Given the description of an element on the screen output the (x, y) to click on. 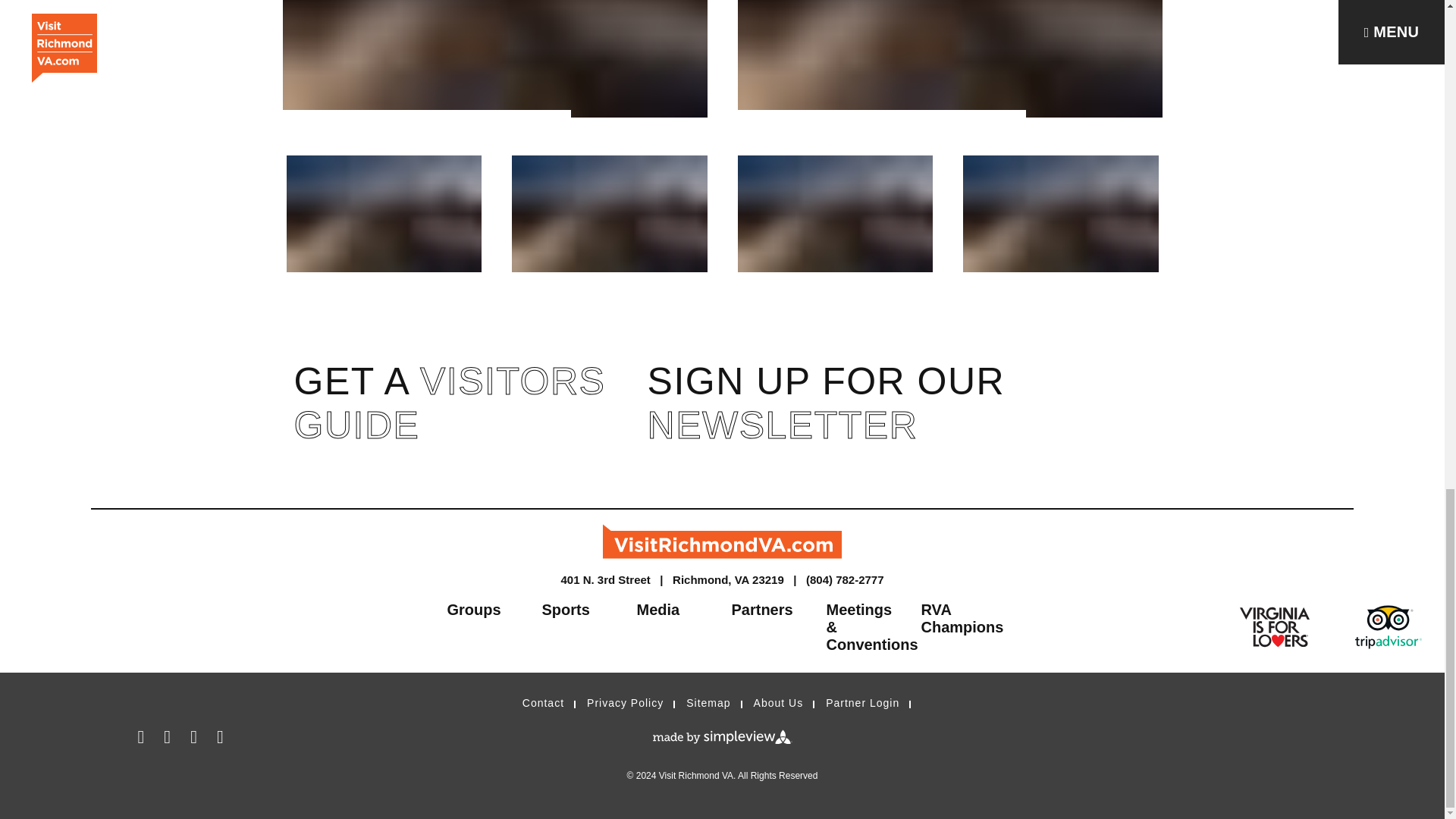
RVA Champions (958, 619)
Contact (543, 702)
Sports (579, 611)
Partner Login (862, 702)
Groups (485, 611)
Media (674, 611)
Partners (769, 611)
Privacy Policy (624, 702)
Sitemap (707, 702)
About Us (778, 702)
